Given the description of an element on the screen output the (x, y) to click on. 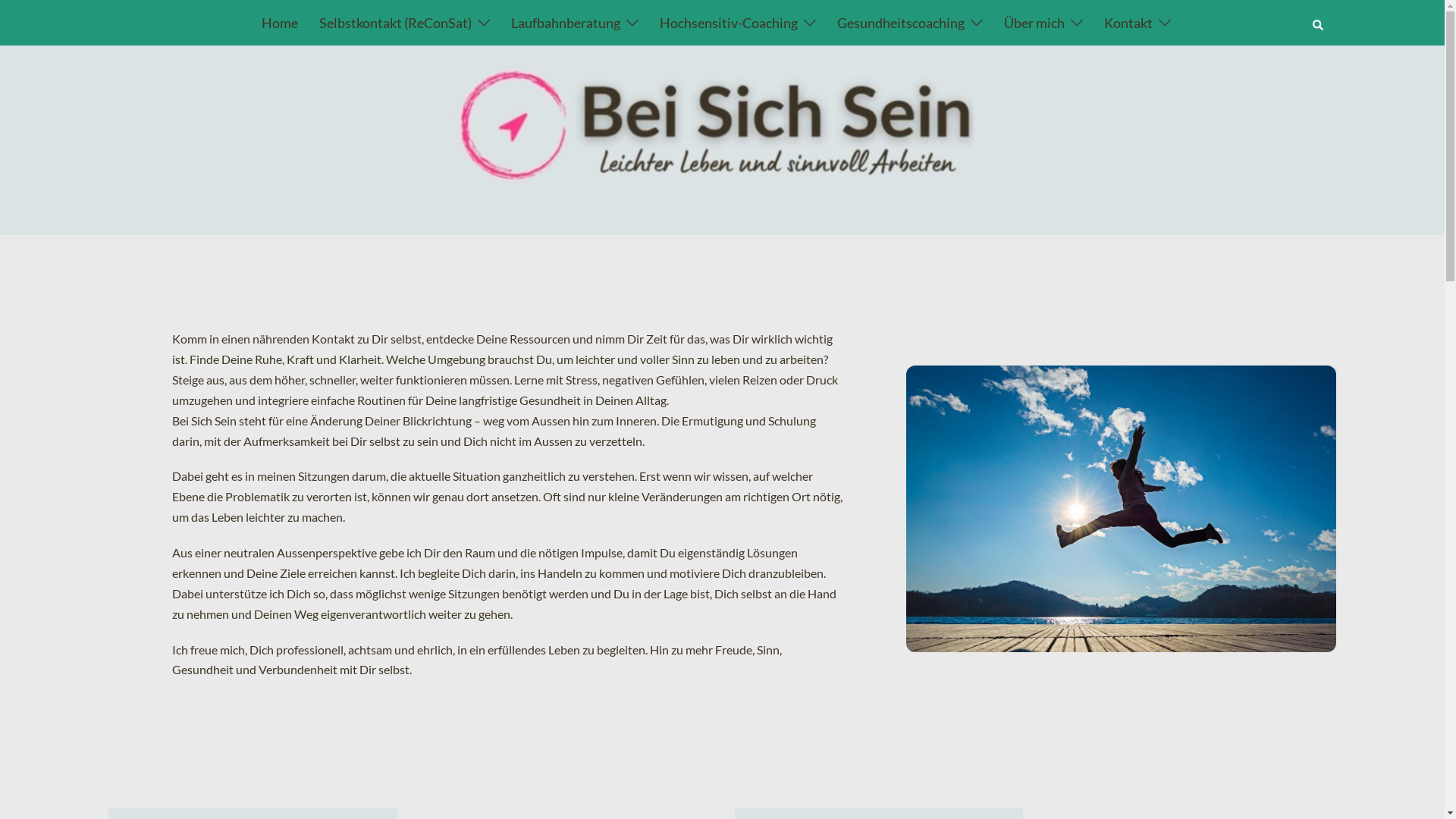
Kontakt Element type: text (1128, 22)
Suche Element type: text (1318, 22)
Laufbahnberatung Element type: text (565, 22)
Hochsensitiv-Coaching Element type: text (728, 22)
Selbstkontakt (ReConSat) Element type: text (395, 22)
Home Element type: text (279, 22)
Gesundheitscoaching Element type: text (900, 22)
